Given the description of an element on the screen output the (x, y) to click on. 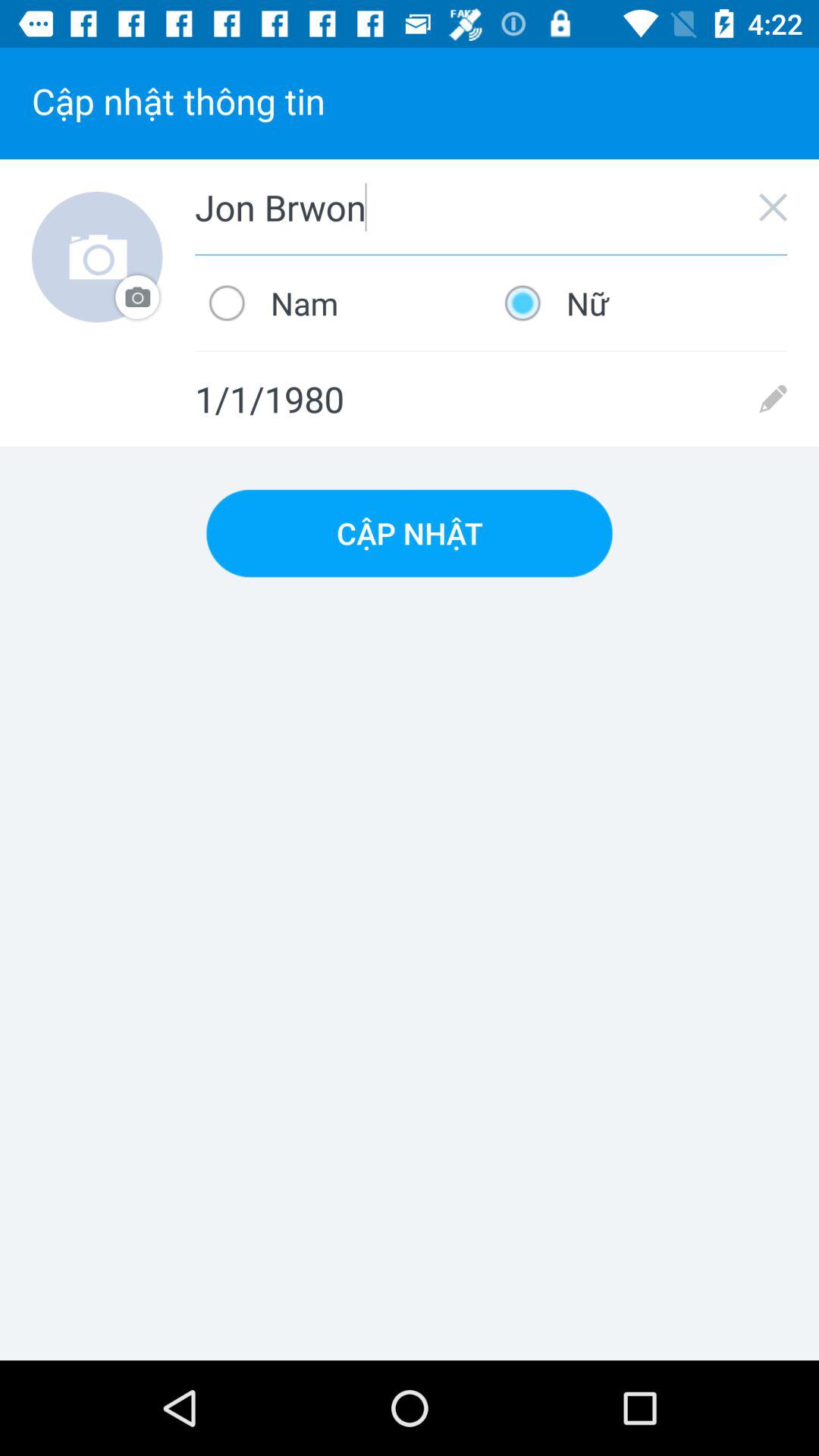
swipe to the jon brwon icon (491, 207)
